Given the description of an element on the screen output the (x, y) to click on. 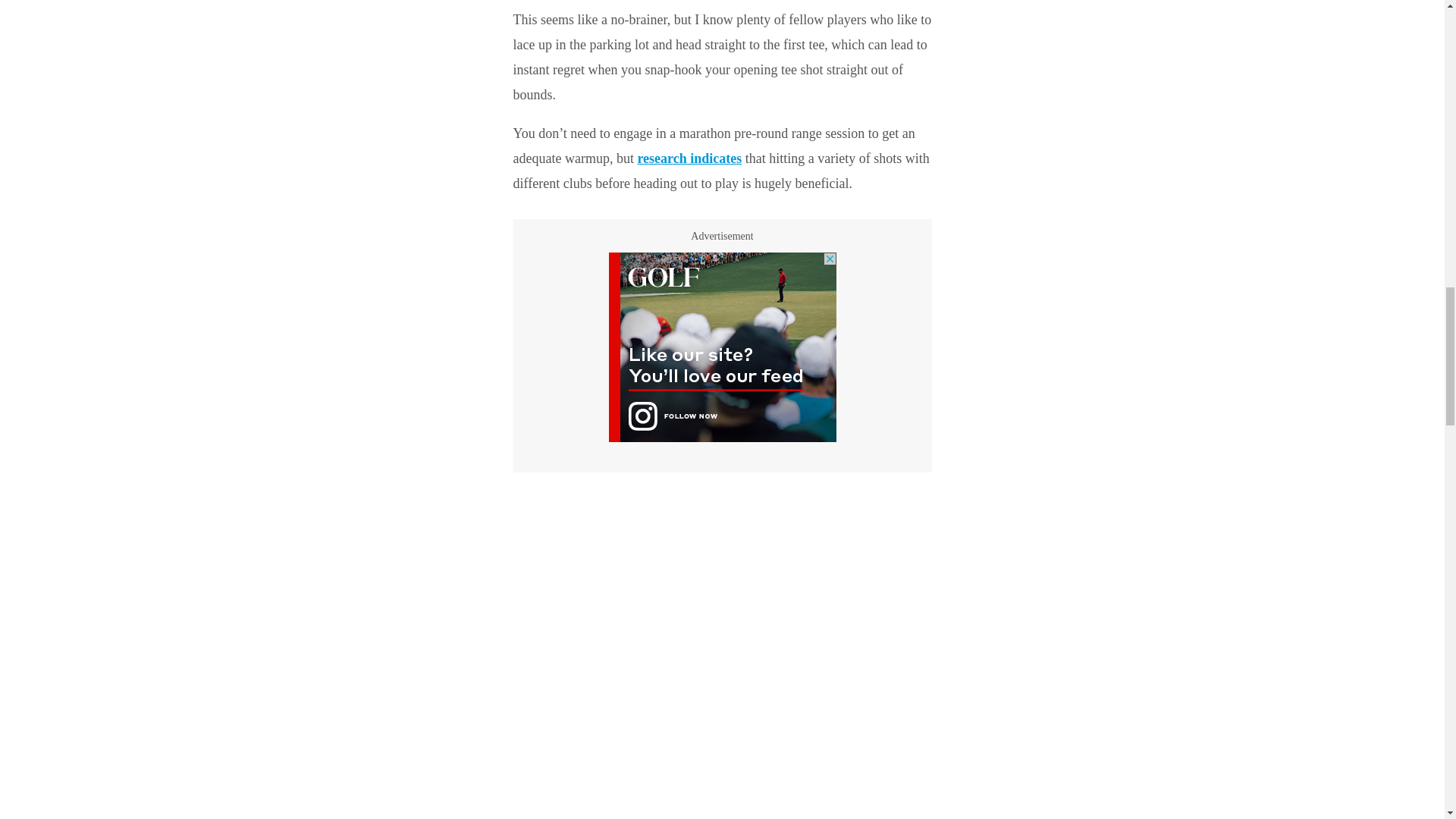
3rd party ad content (721, 347)
research indicates (689, 158)
